Given the description of an element on the screen output the (x, y) to click on. 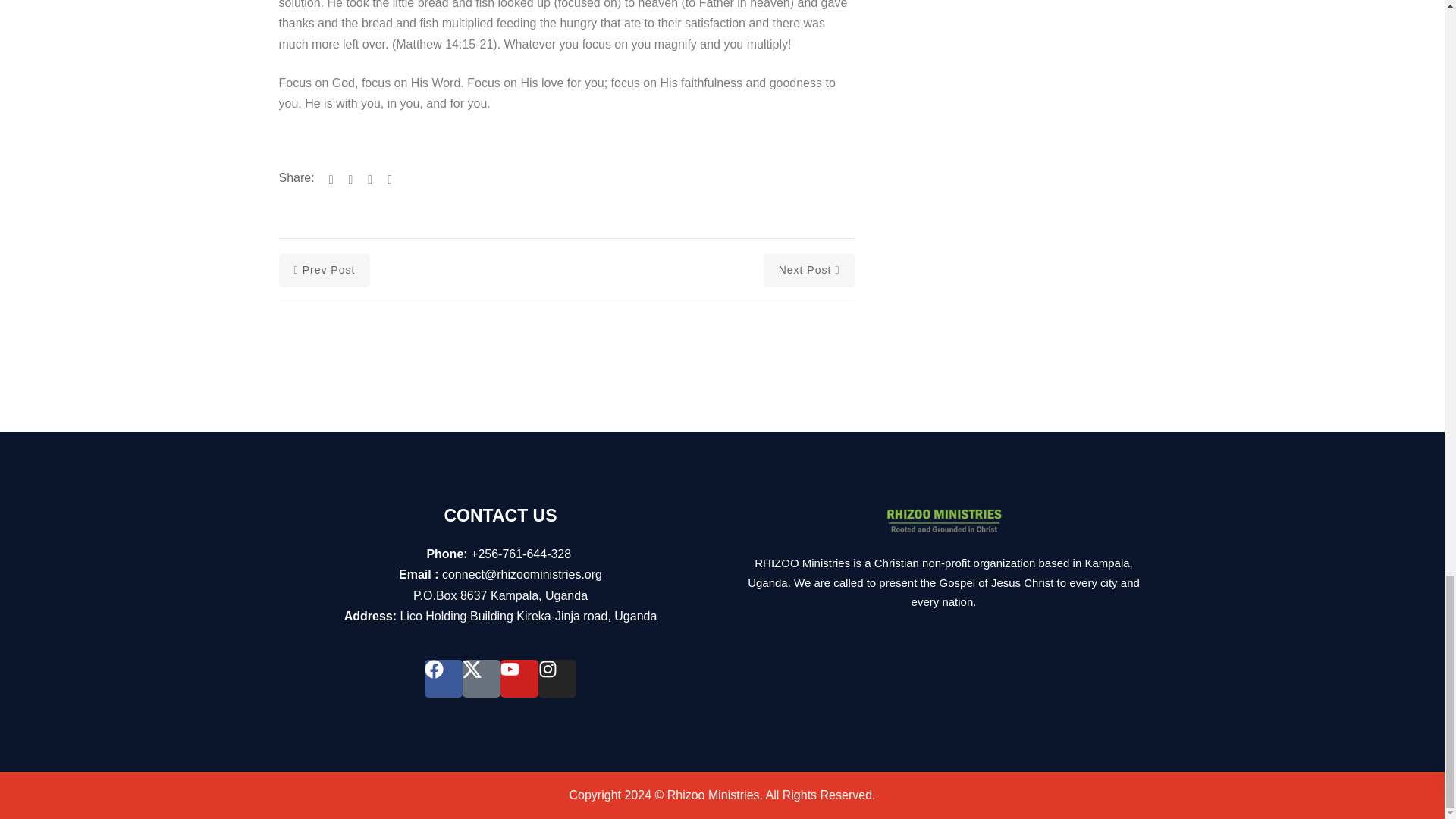
Next Post (809, 270)
Prev Post (325, 270)
